Given the description of an element on the screen output the (x, y) to click on. 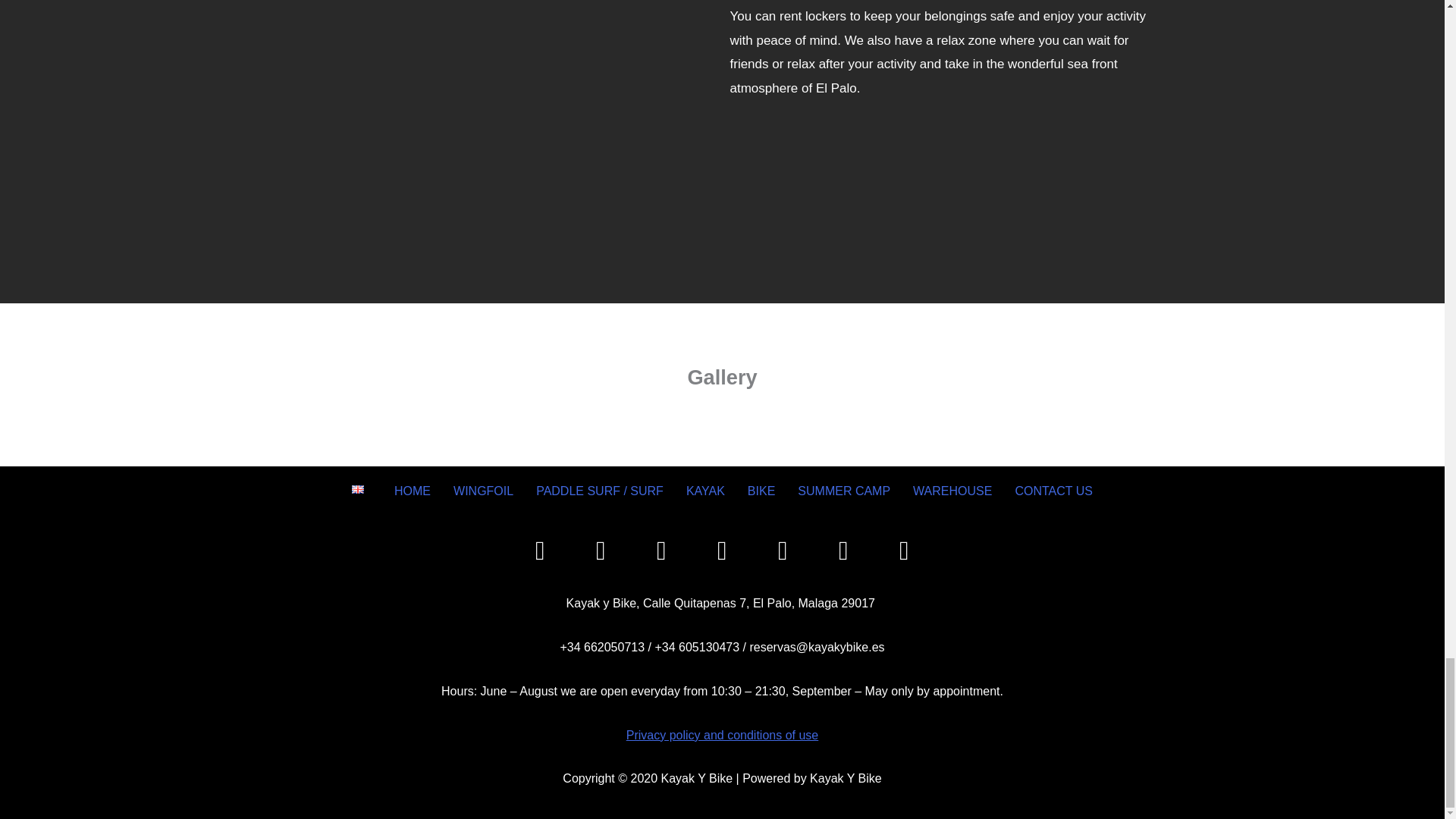
Facebook (540, 550)
KAYAK (705, 491)
BIKE (761, 491)
WAREHOUSE (952, 491)
HOME (412, 491)
SUMMER CAMP (843, 491)
WINGFOIL (483, 491)
Instagram (601, 550)
CONTACT US (1053, 491)
